Given the description of an element on the screen output the (x, y) to click on. 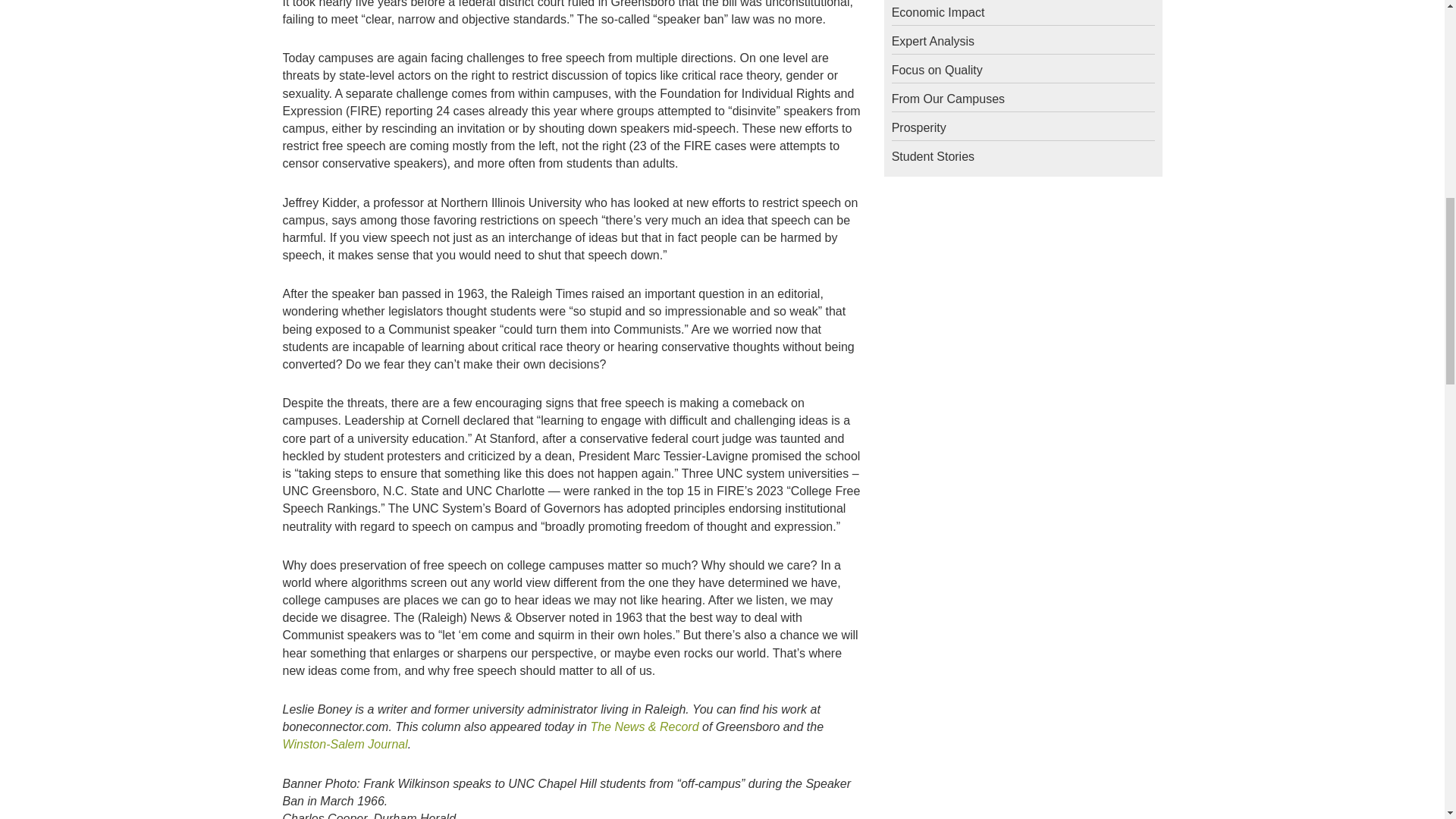
Winston-Salem Journal (344, 744)
